Given the description of an element on the screen output the (x, y) to click on. 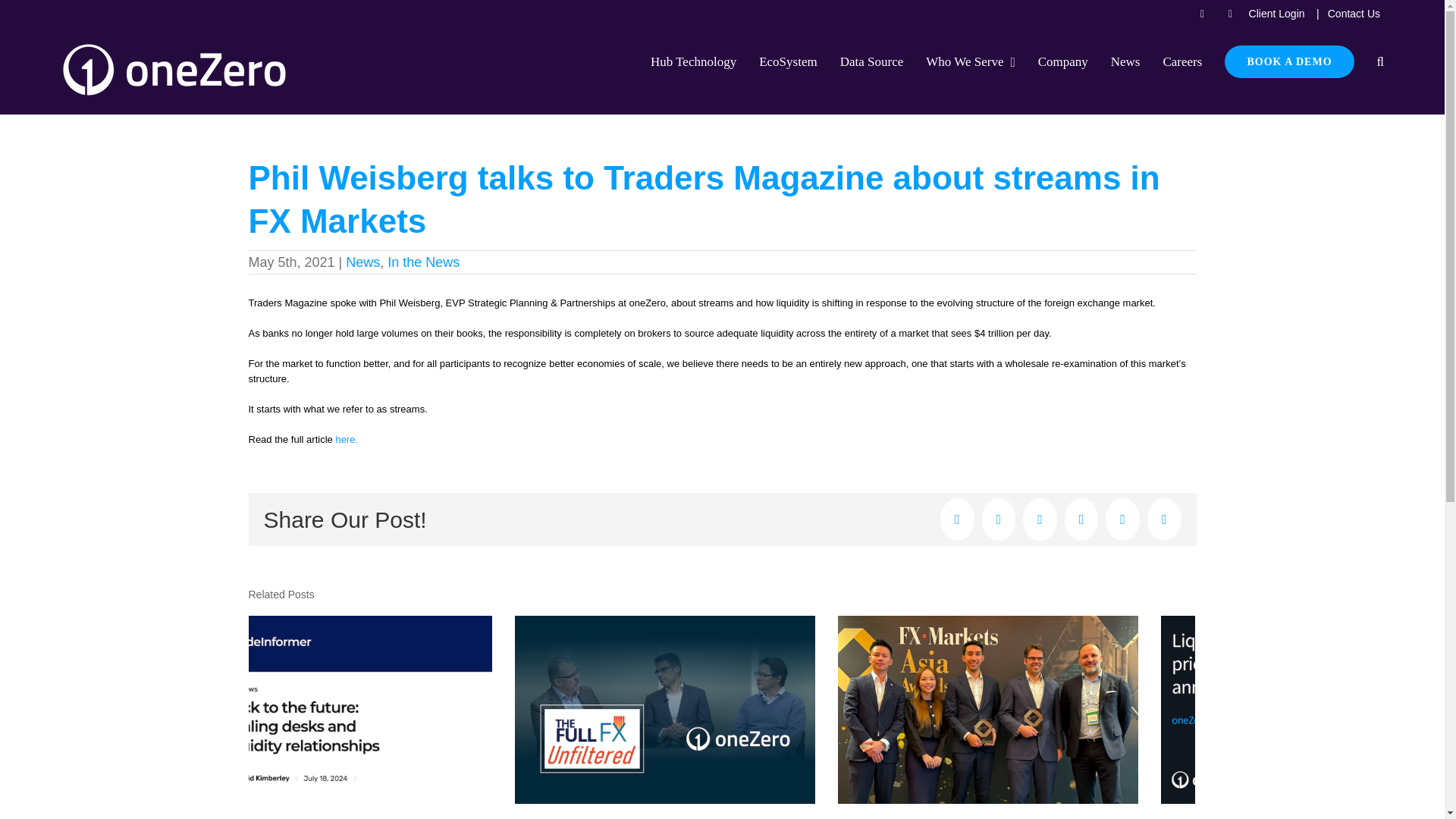
Contact Us (1353, 13)
Hub Technology (693, 61)
Who We Serve (970, 61)
In the News (423, 262)
News (363, 262)
BOOK A DEMO (1289, 61)
